Given the description of an element on the screen output the (x, y) to click on. 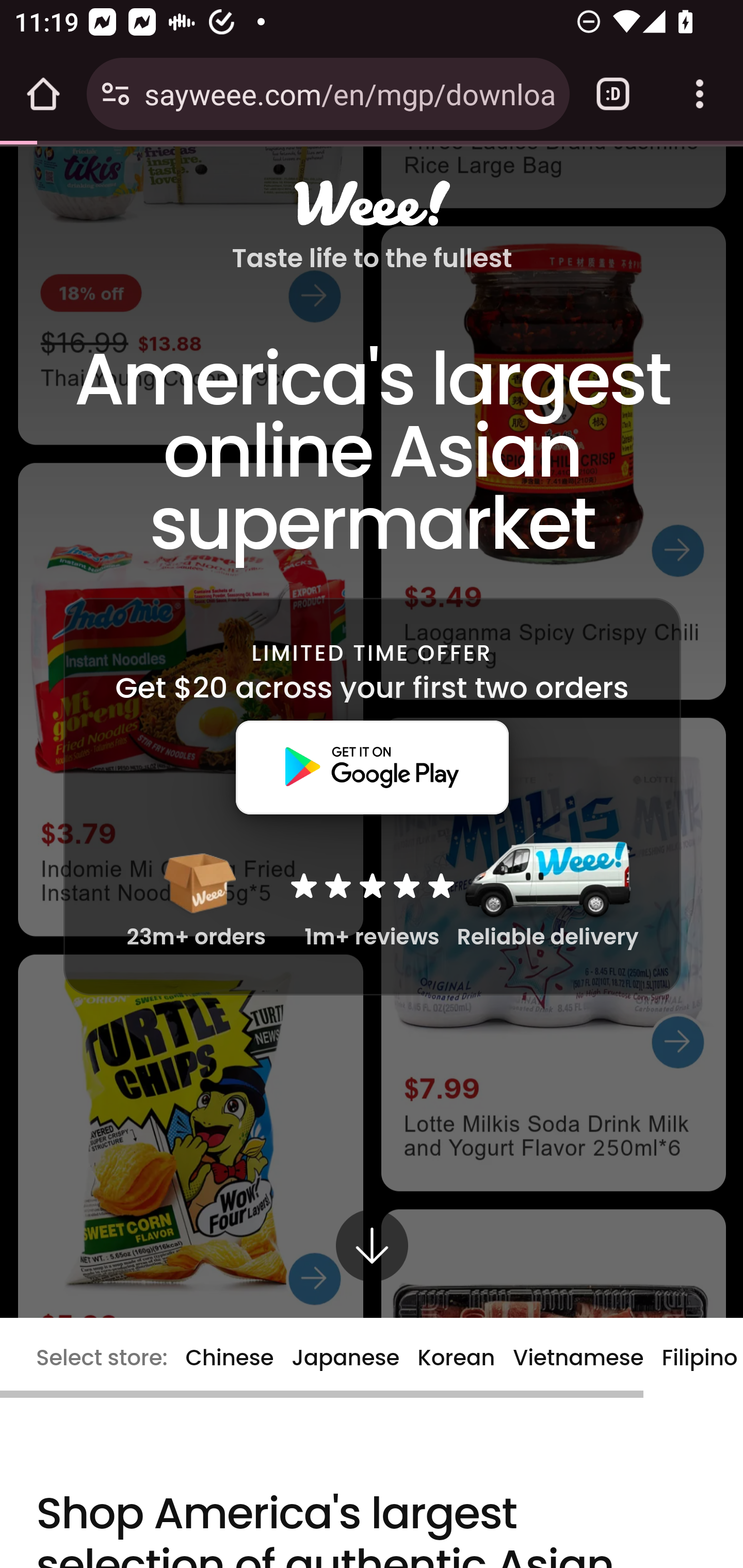
Open the home page (43, 93)
Connection is secure (115, 93)
Switch or close tabs (612, 93)
Customize and control Google Chrome (699, 93)
www.sayweee (371, 203)
details?id=com.sayweee (371, 766)
en (371, 1262)
Chinese (229, 1356)
Japanese (345, 1356)
Korean (456, 1356)
Vietnamese (578, 1356)
Filipino (699, 1356)
